Given the description of an element on the screen output the (x, y) to click on. 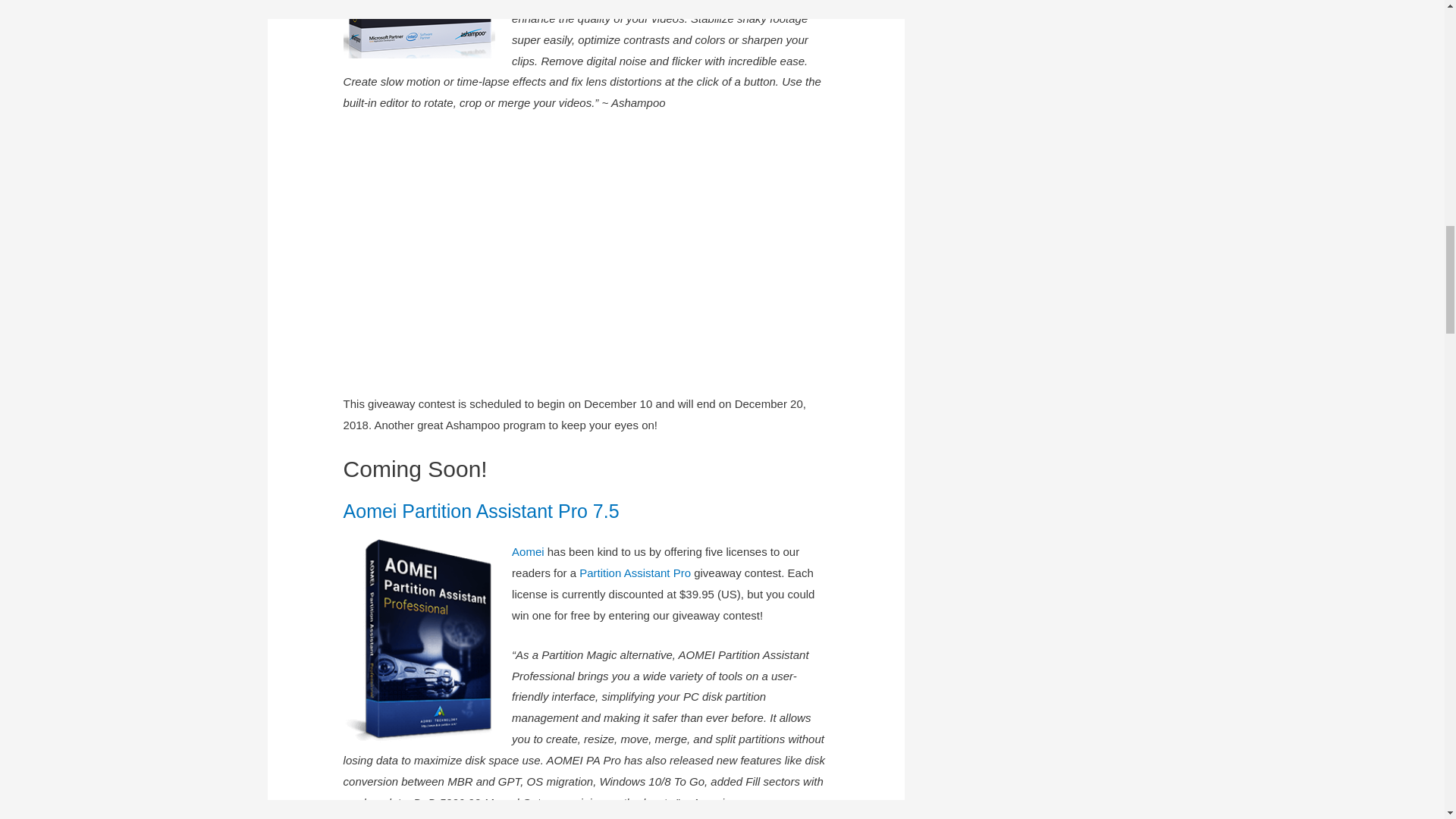
3rd party ad content (585, 252)
